Given the description of an element on the screen output the (x, y) to click on. 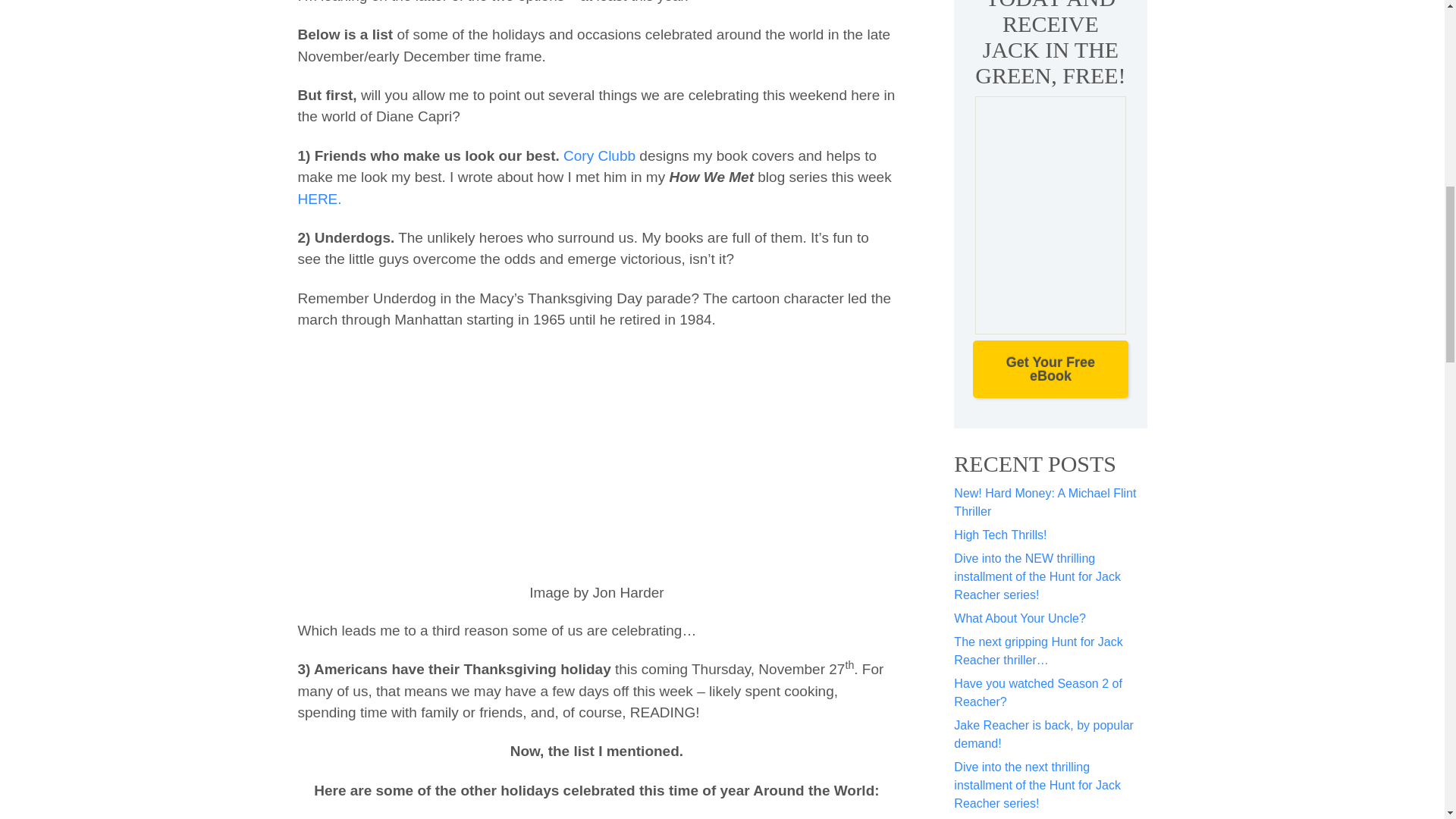
Cory Clubb (598, 155)
How We Met Blog (318, 198)
HERE. (318, 198)
